Given the description of an element on the screen output the (x, y) to click on. 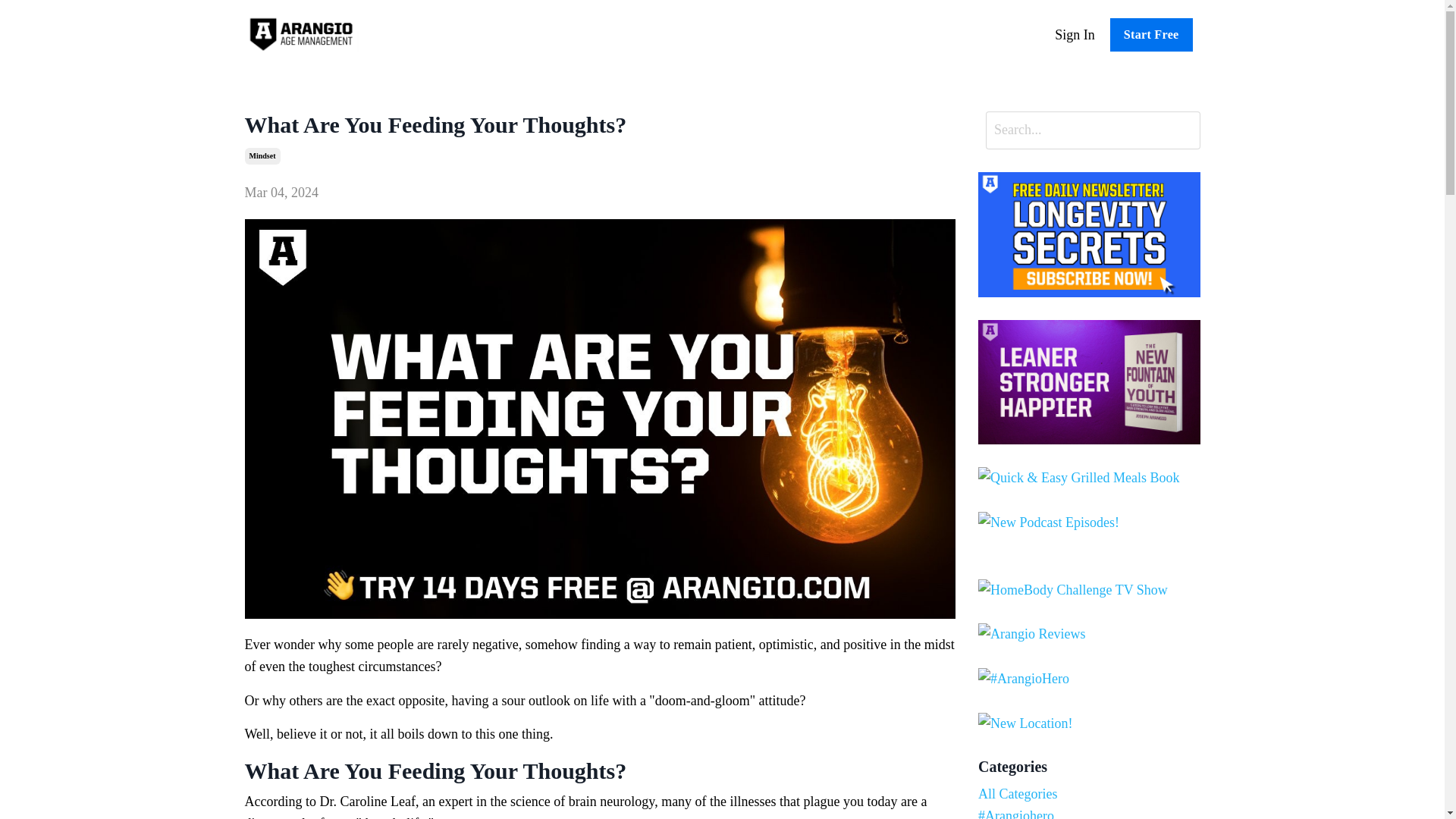
All Categories (1088, 793)
Start Free (1150, 34)
Sign In (1074, 34)
Mindset (261, 156)
